Given the description of an element on the screen output the (x, y) to click on. 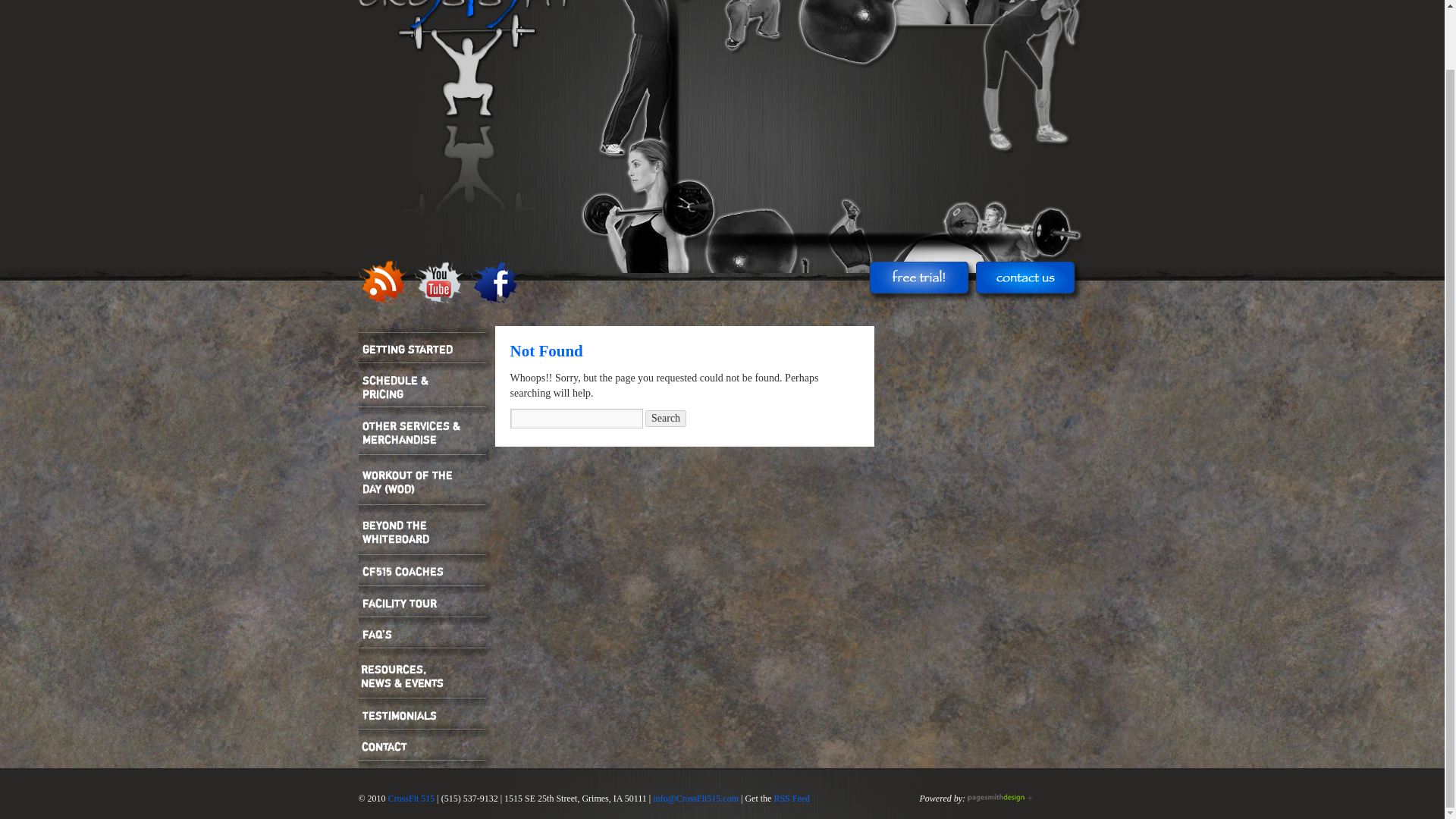
Beyond the Whiteboard (429, 532)
Facility Tour (429, 601)
Other Services (429, 432)
Testimonials (429, 713)
Search (665, 418)
CrossFit 515 (411, 798)
Schedule and Pricing (429, 385)
CF 515 Coaches (429, 570)
RSS Feed (791, 798)
Videos, Resources, News and Events (429, 676)
